Given the description of an element on the screen output the (x, y) to click on. 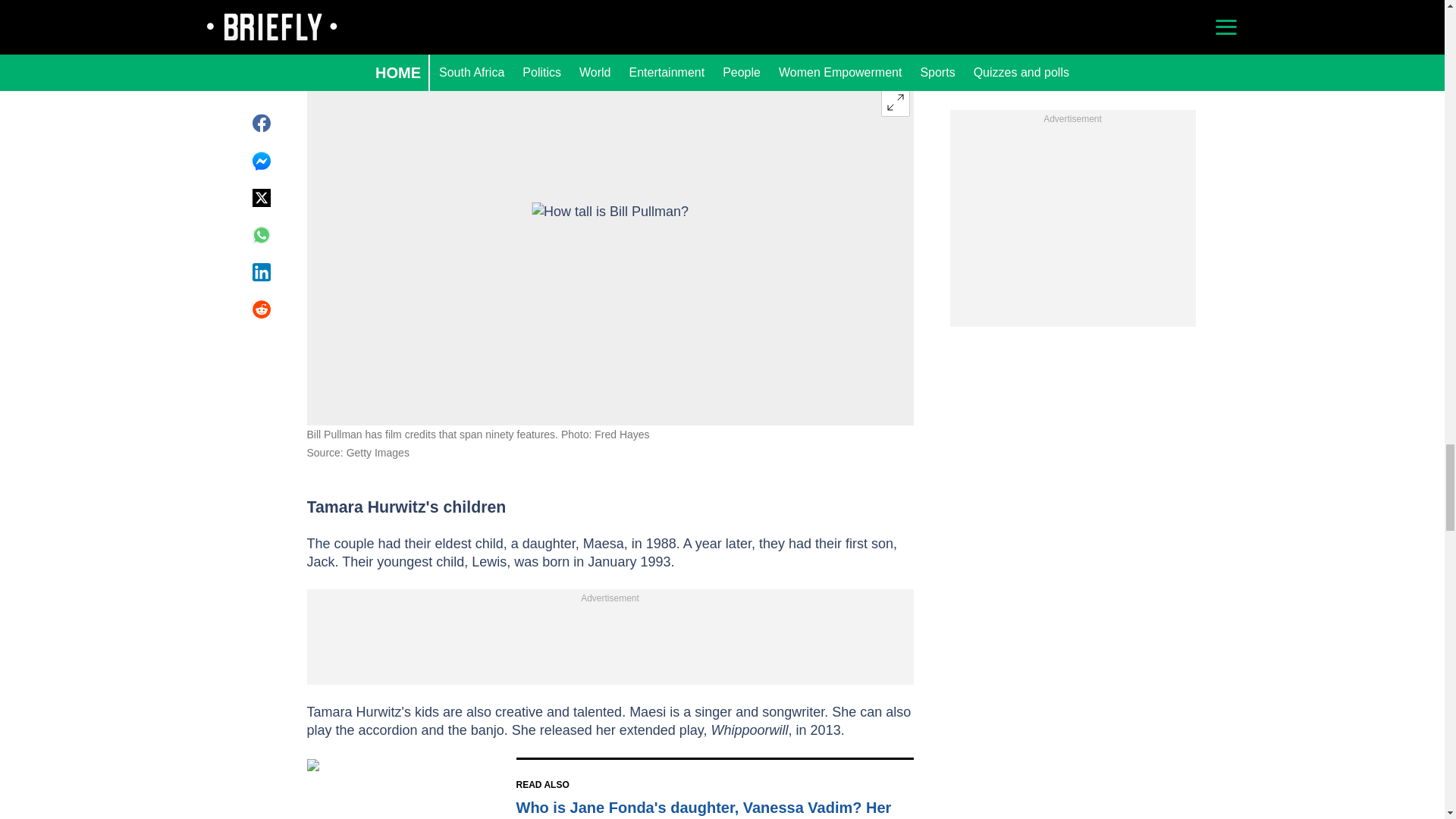
Expand image (895, 102)
How tall is Bill Pullman? (609, 254)
